Given the description of an element on the screen output the (x, y) to click on. 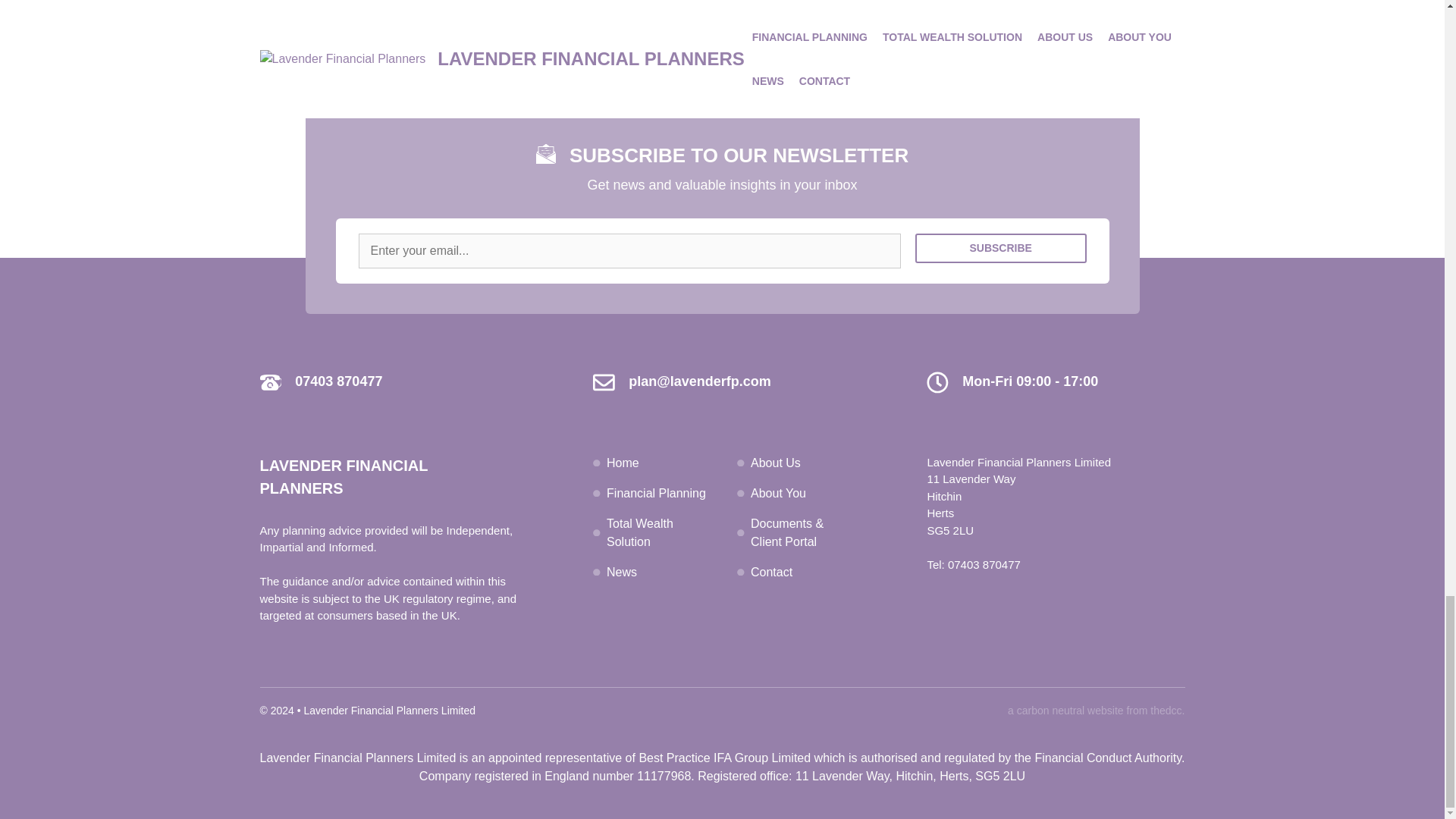
Subscribe (1000, 247)
About Us (775, 462)
READ MORE TESTIMONIALS (722, 35)
07403 870477 (983, 563)
Subscribe (1000, 247)
About You (778, 492)
07403 870477 (338, 381)
Total Wealth Solution (639, 531)
News (622, 571)
Home (623, 462)
a carbon neutral website from thedcc. (1096, 710)
Contact (771, 571)
Financial Planning (656, 492)
